Given the description of an element on the screen output the (x, y) to click on. 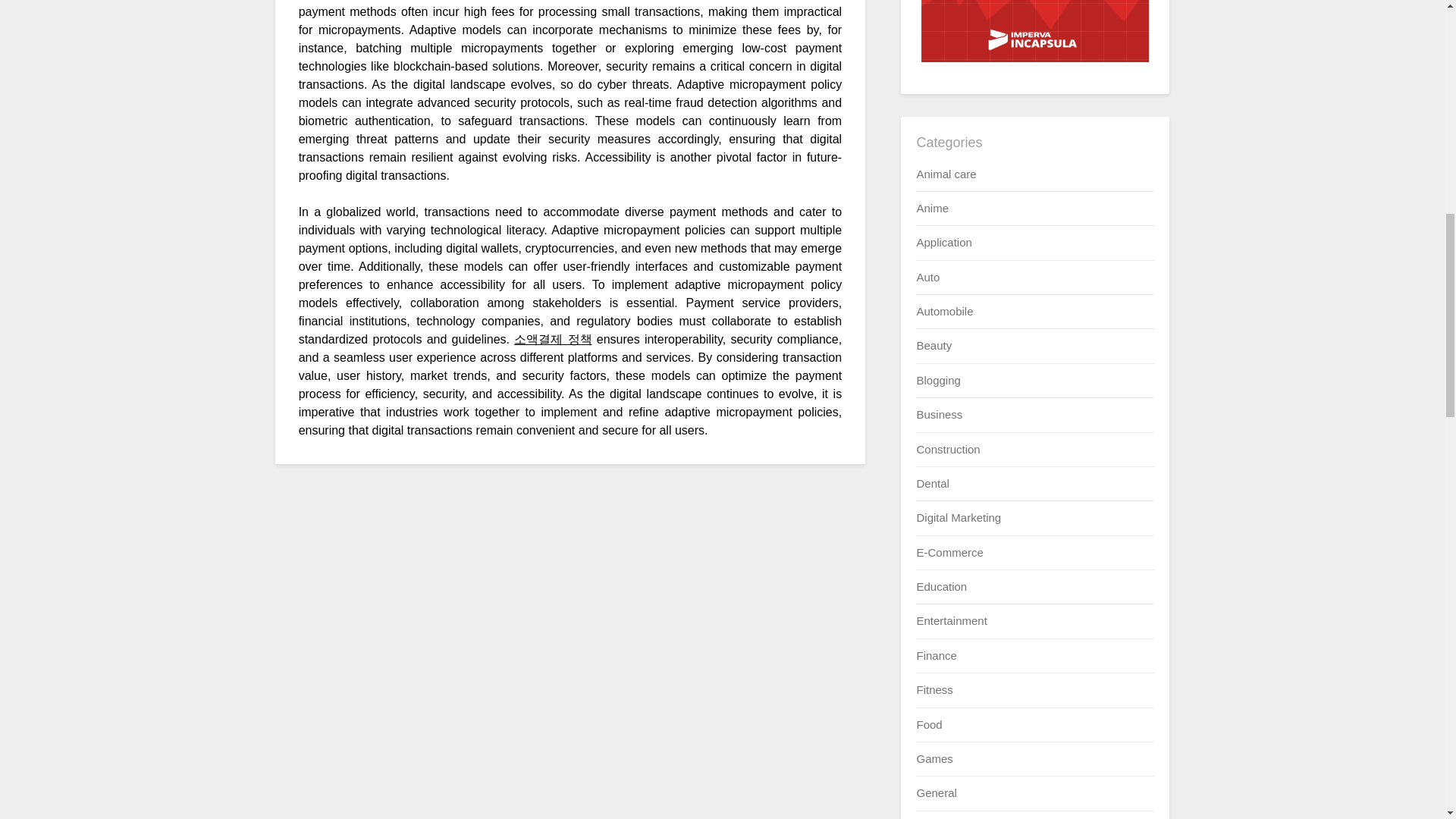
Dental (932, 482)
Food (928, 723)
Entertainment (951, 620)
Education (940, 585)
Finance (935, 655)
Digital Marketing (958, 517)
Construction (947, 449)
General (935, 792)
Beauty (933, 345)
Business (938, 413)
Games (933, 758)
Fitness (933, 689)
Animal care (945, 173)
Blogging (937, 379)
E-Commerce (948, 552)
